Given the description of an element on the screen output the (x, y) to click on. 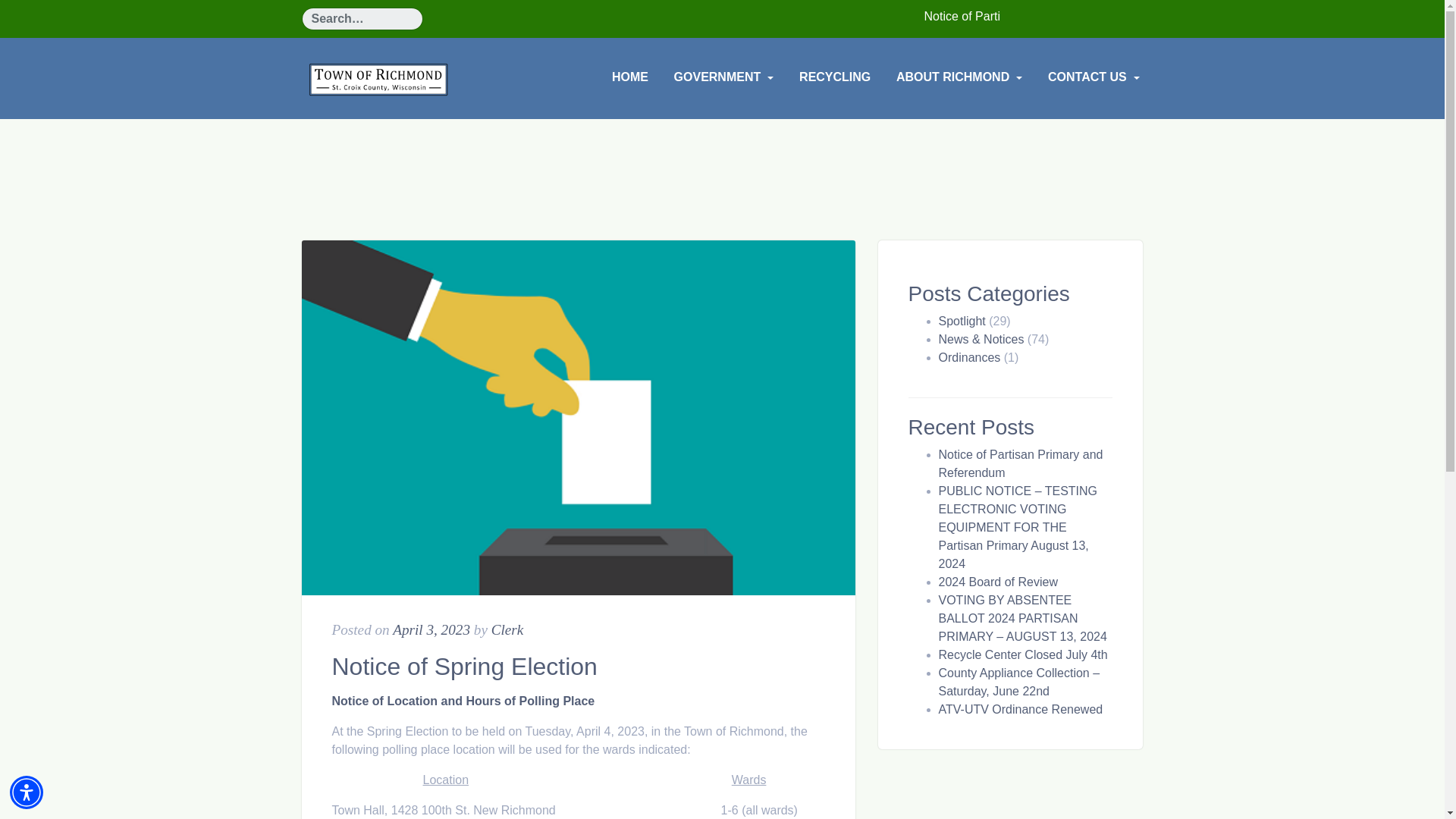
Ordinances (970, 357)
About Richmond (959, 76)
ABOUT RICHMOND (959, 76)
Government (724, 76)
Home (630, 76)
April 3, 2023 (431, 629)
GOVERNMENT (724, 76)
Notice of Partisan Primary and Referendum (1021, 463)
CONTACT US (1093, 76)
Clerk (508, 629)
